Given the description of an element on the screen output the (x, y) to click on. 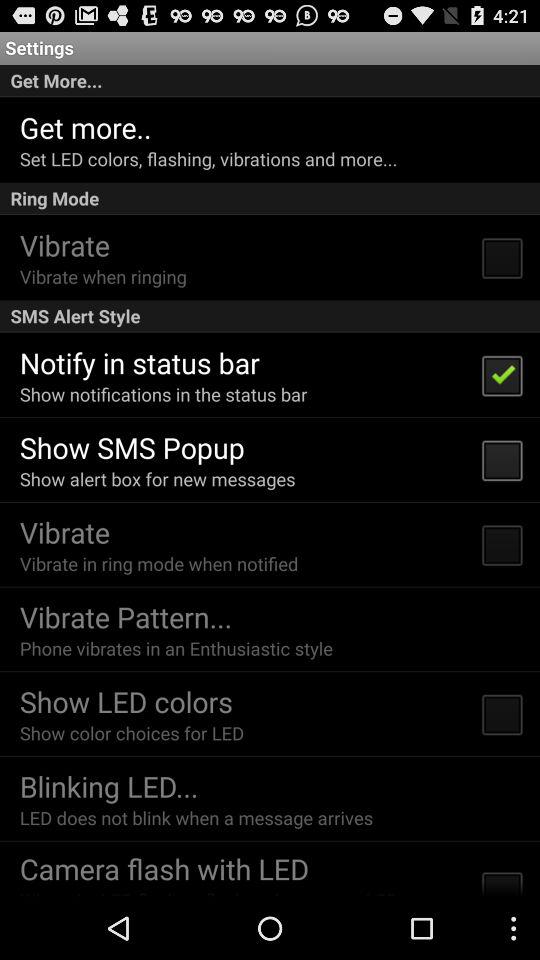
open the app below the vibrate pattern... icon (176, 648)
